Given the description of an element on the screen output the (x, y) to click on. 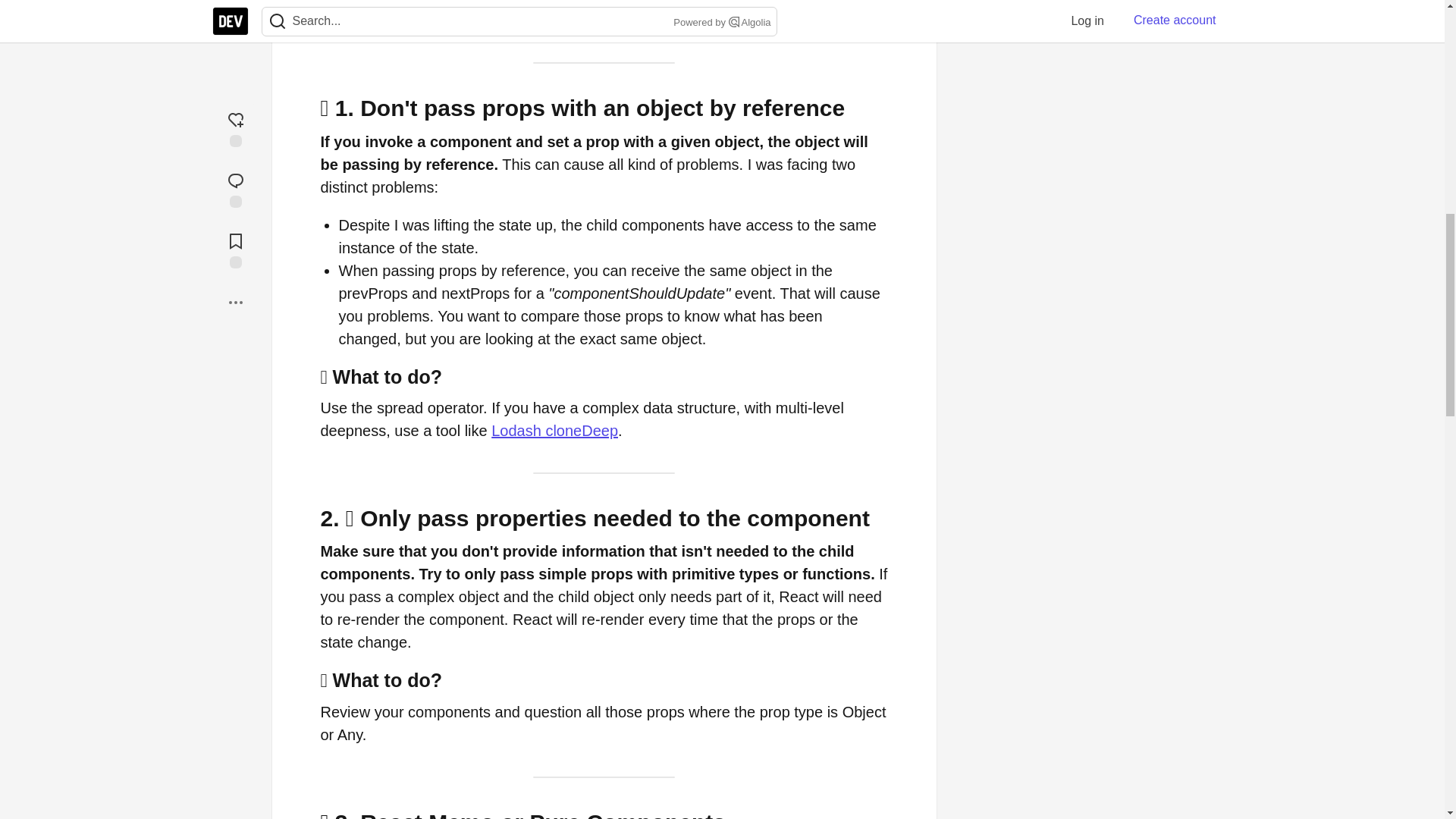
Lodash cloneDeep (554, 430)
